Given the description of an element on the screen output the (x, y) to click on. 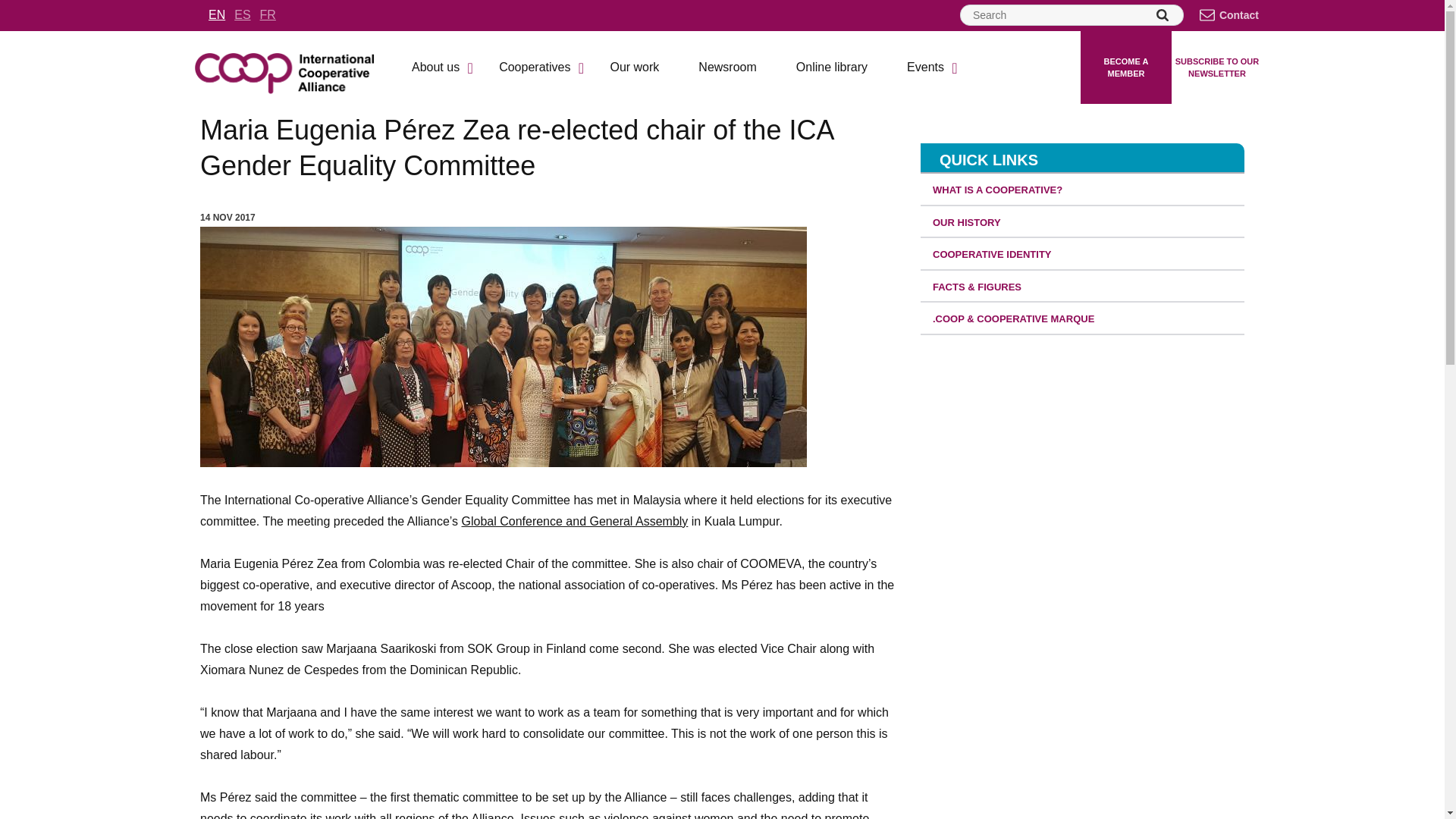
FR (268, 14)
EN (216, 14)
Contact (1230, 14)
ES (241, 14)
